Given the description of an element on the screen output the (x, y) to click on. 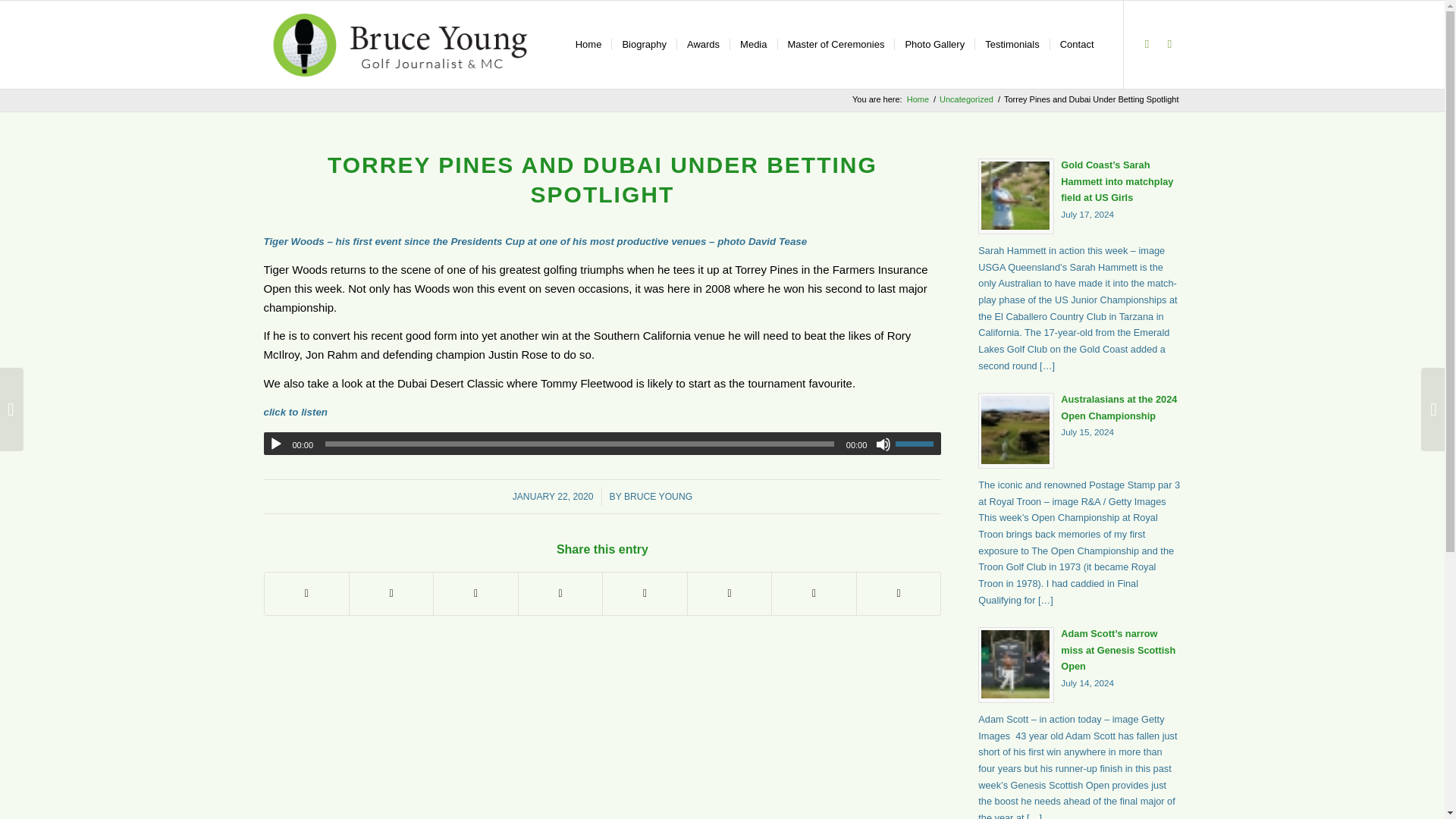
Play (275, 444)
Uncategorized (966, 99)
Bruce Young Media (917, 99)
TORREY PINES AND DUBAI UNDER BETTING SPOTLIGHT (602, 179)
Master of Ceremonies (834, 44)
Posts by Bruce Young (658, 496)
Youtube (1146, 43)
Photo Gallery (1079, 428)
LinkedIn (933, 44)
BRUCE YOUNG (1169, 43)
Home (658, 496)
Mute (917, 99)
